Given the description of an element on the screen output the (x, y) to click on. 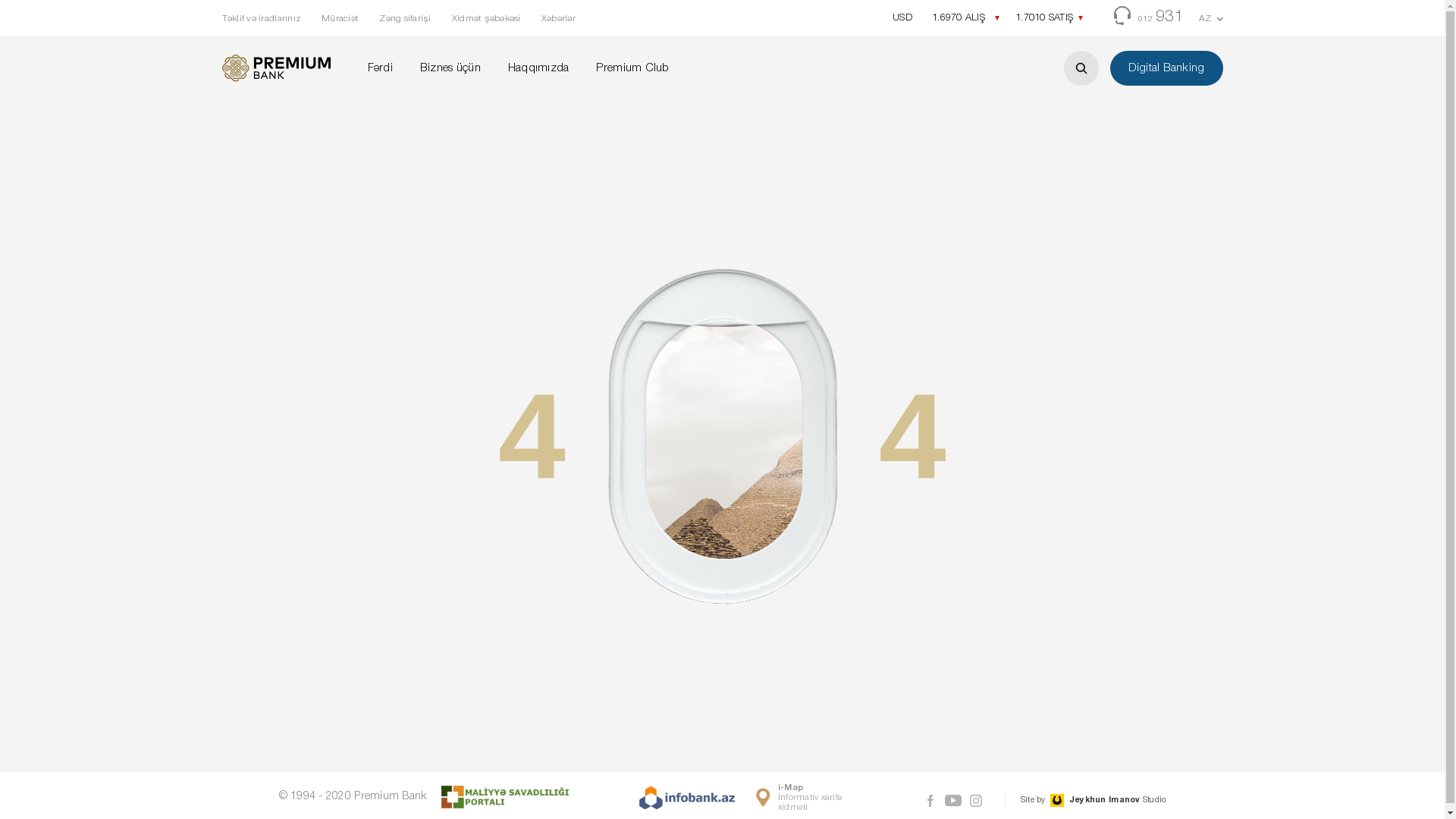
AZ Element type: text (1210, 18)
Digital Banking Element type: text (1166, 67)
012 931 Element type: text (1148, 18)
Site by Jeykhun Imanov Studio Element type: text (1085, 799)
Premium Club Element type: text (632, 68)
